Given the description of an element on the screen output the (x, y) to click on. 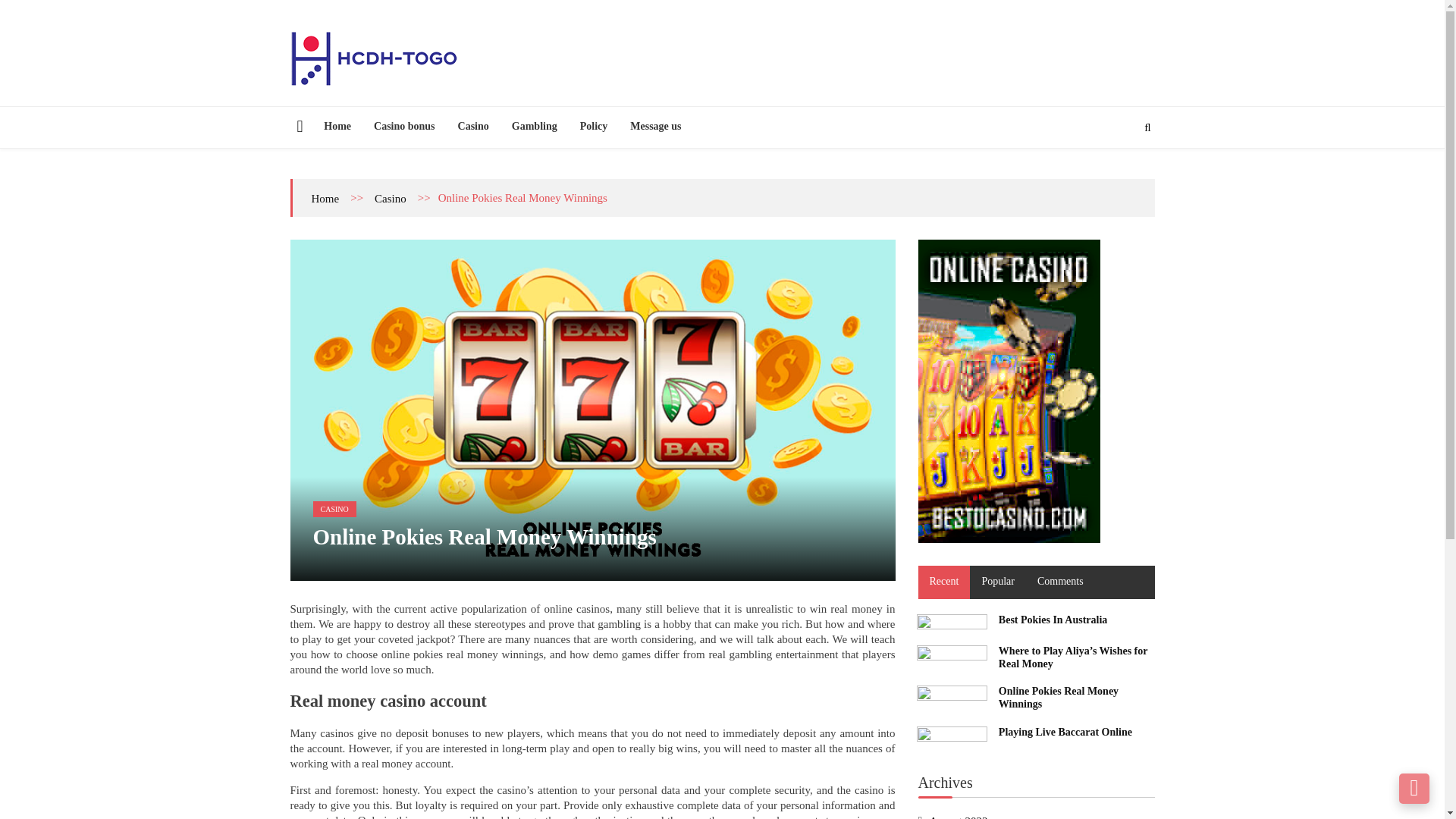
Comments (1060, 581)
Search (1122, 174)
Gambling (534, 126)
Popular (997, 581)
Casino (473, 126)
Online Pokies Real Money Winnings (951, 695)
Playing Live Baccarat Online (951, 736)
Online Pokies Real Money Winnings (1058, 697)
Home (337, 126)
hcdh-togo (325, 98)
